Given the description of an element on the screen output the (x, y) to click on. 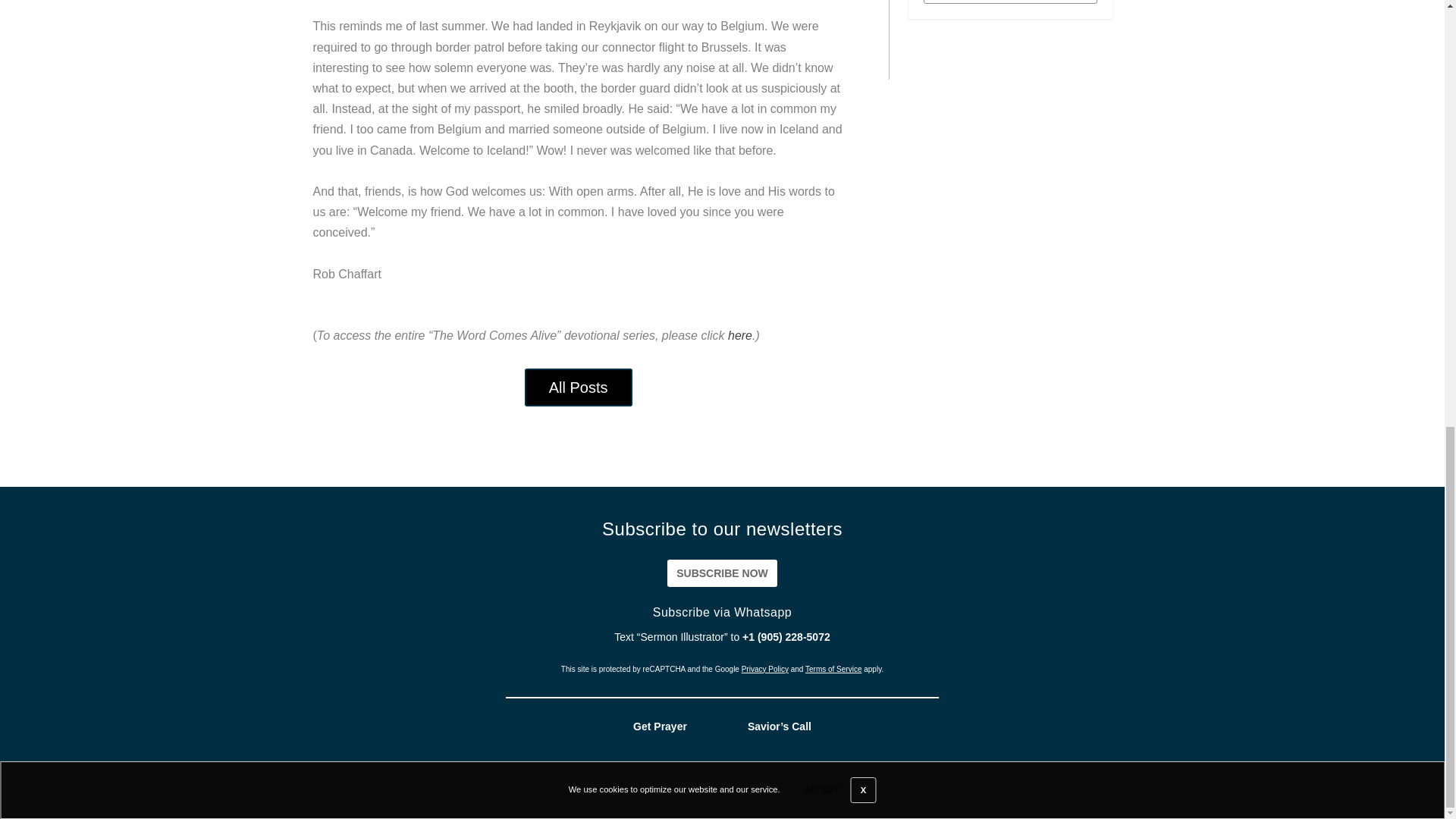
Contact Us (1387, 793)
Privacy Policy (765, 669)
All Posts (577, 387)
here (740, 335)
Get Prayer (659, 726)
Terms of Service (833, 669)
Subscribe now (721, 573)
Answers2Prayer (873, 793)
Subscribe now (721, 573)
